Given the description of an element on the screen output the (x, y) to click on. 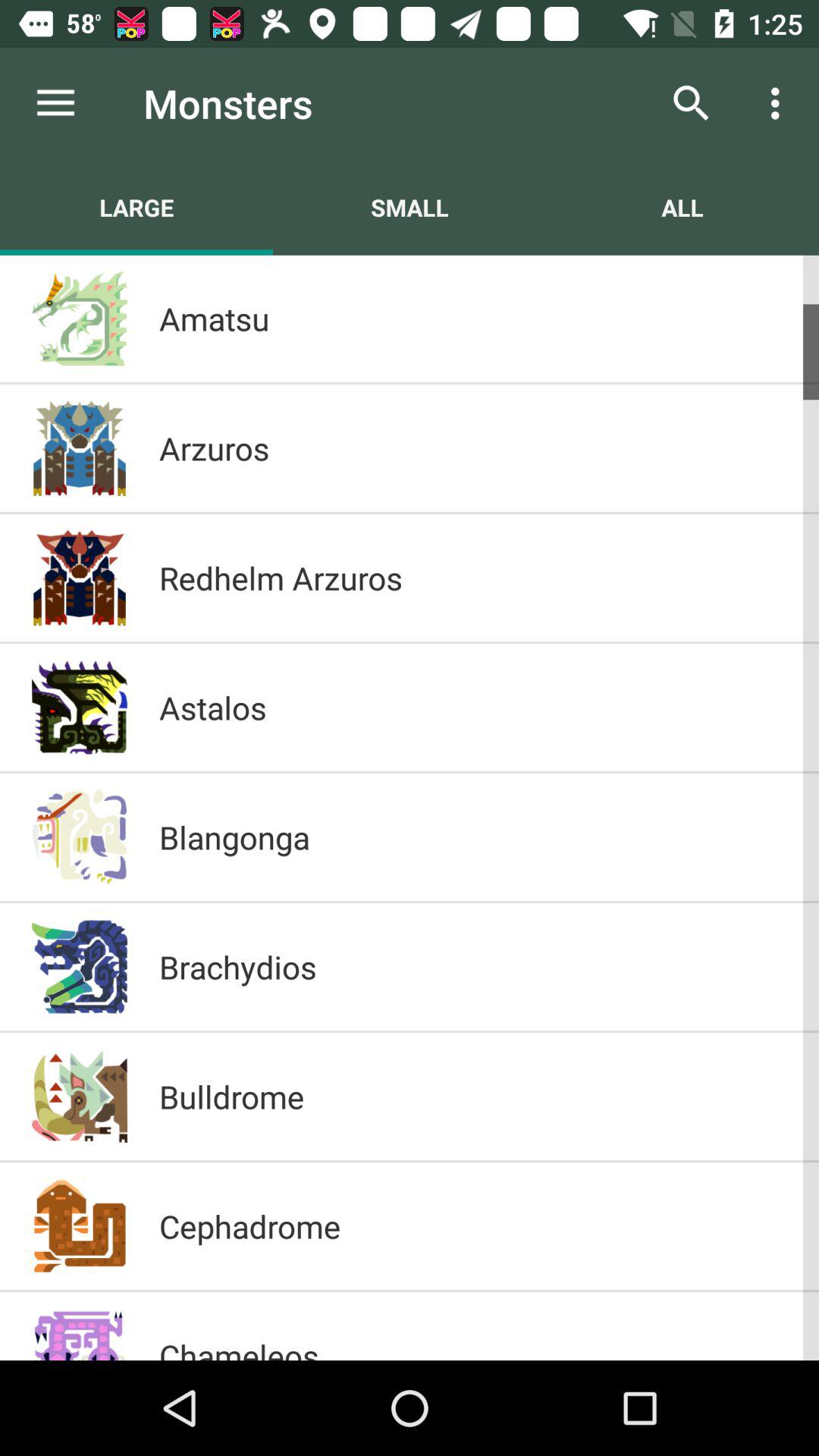
launch icon above the bulldrome icon (473, 966)
